Given the description of an element on the screen output the (x, y) to click on. 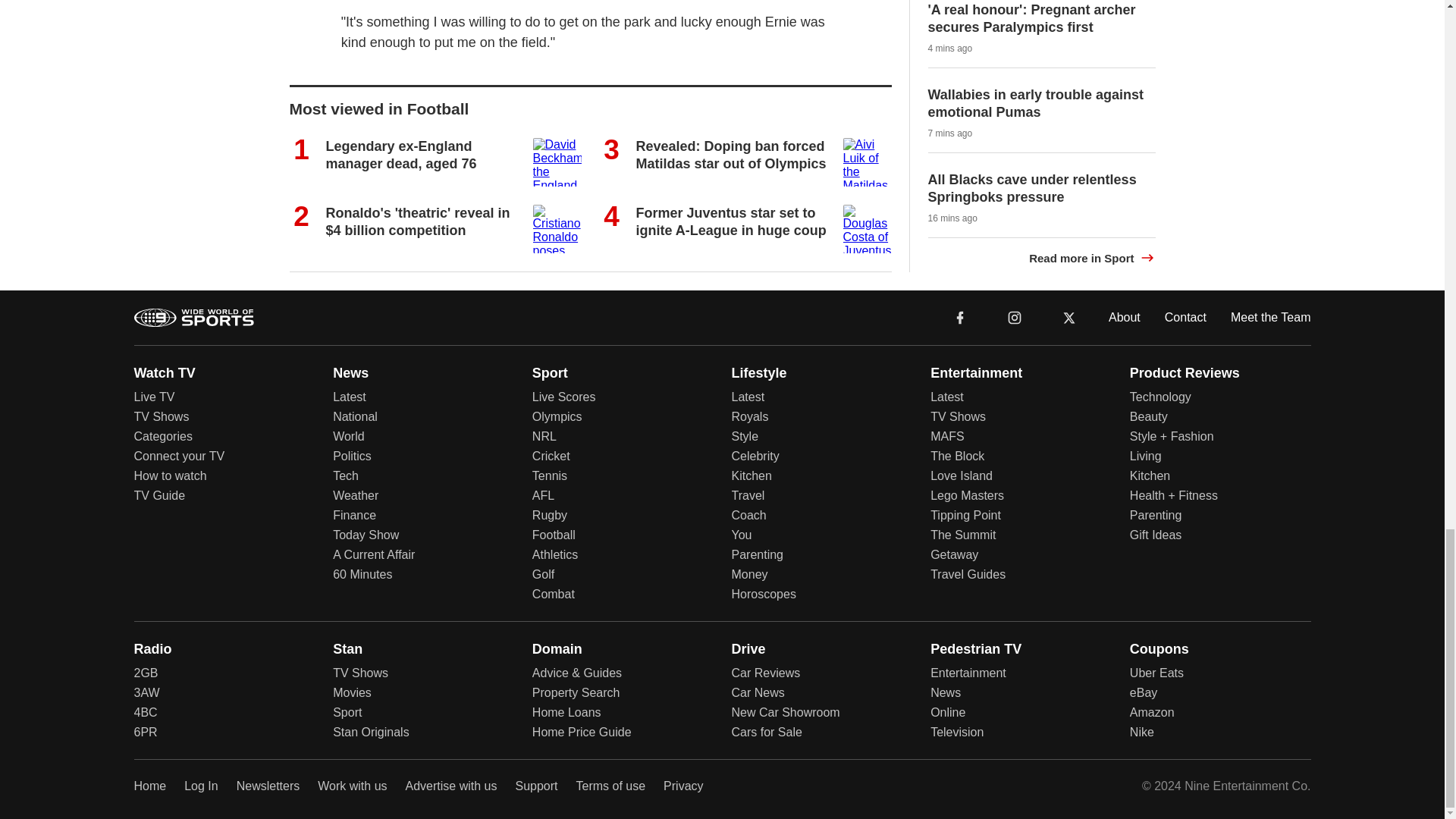
facebook (960, 316)
Legendary ex-England manager dead, aged 76 (401, 154)
facebook (959, 316)
instagram (1013, 316)
x (1069, 316)
x (1069, 316)
x (1069, 316)
facebook (959, 316)
Former Juventus star set to ignite A-League in huge coup (729, 220)
instagram (1014, 316)
